Given the description of an element on the screen output the (x, y) to click on. 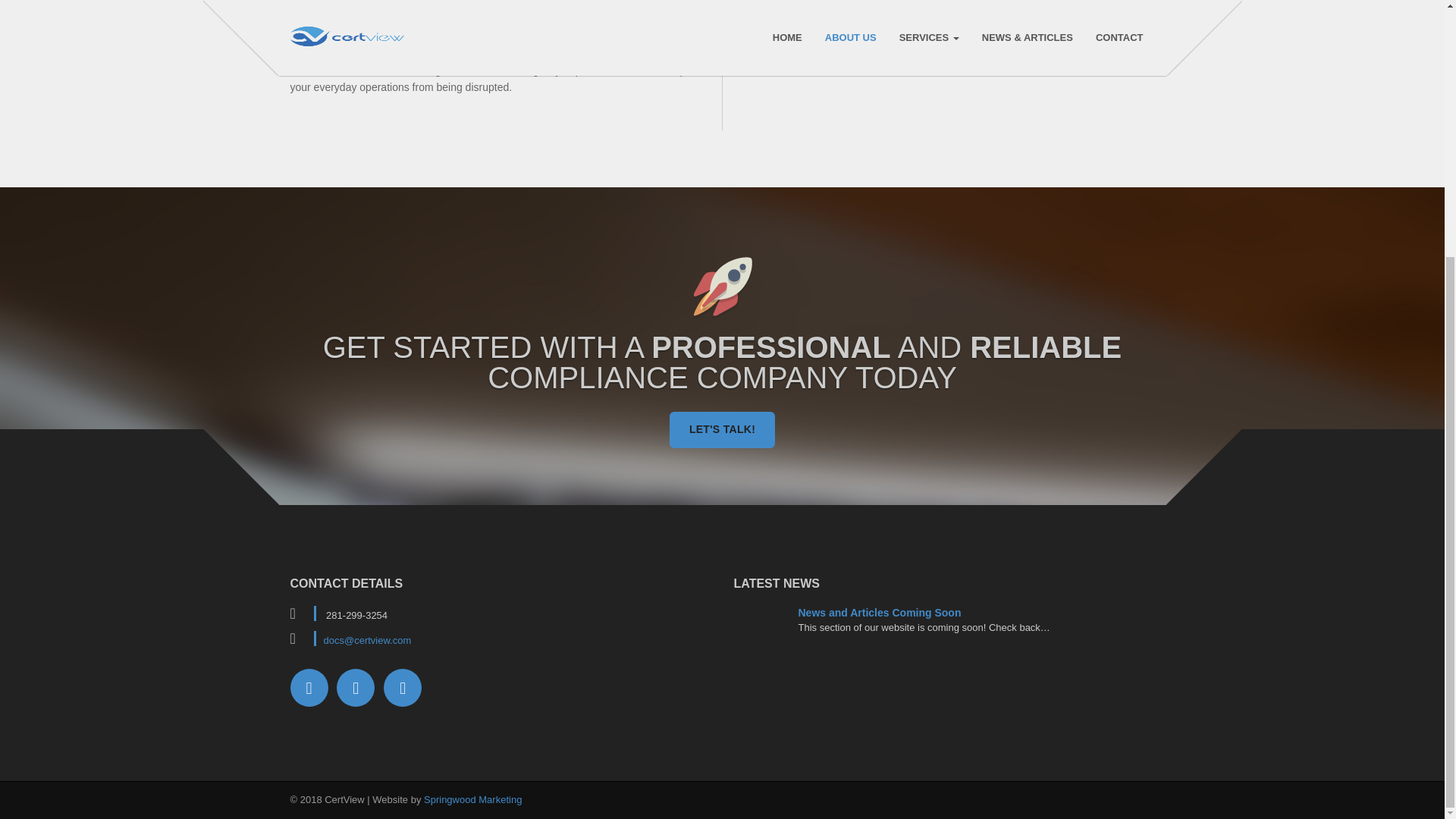
LET'S TALK! (721, 429)
Let's Talk! (721, 429)
News and Articles Coming Soon (878, 612)
Springwood Marketing (472, 799)
